Given the description of an element on the screen output the (x, y) to click on. 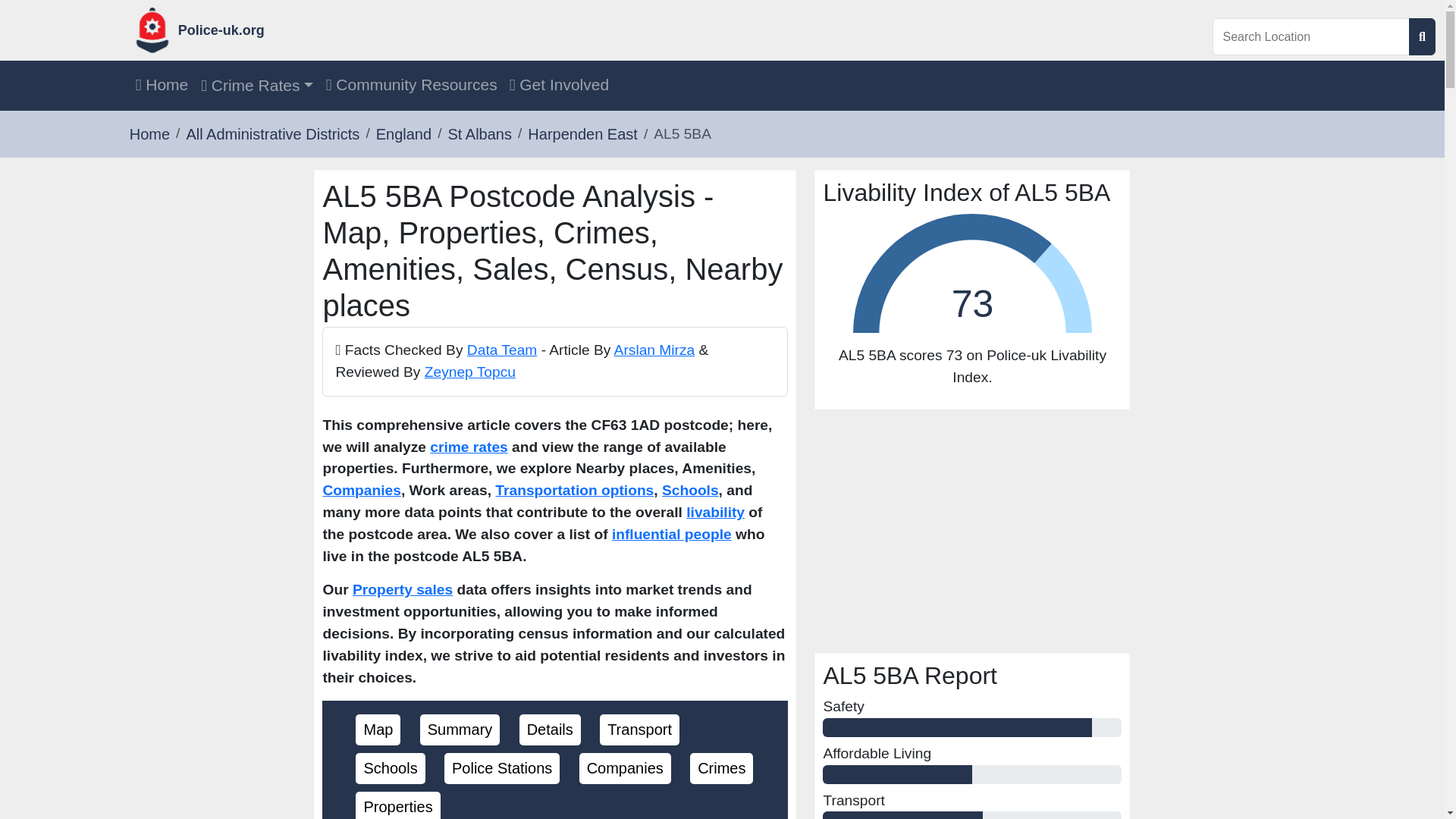
crime rates (467, 446)
Details (550, 729)
Home (162, 84)
Companies (360, 489)
Transportation options (574, 489)
Transport (639, 729)
Data Team (502, 349)
Zeynep Topcu (470, 371)
influential people (671, 534)
Properties (397, 806)
Crimes (721, 768)
Get Involved (558, 84)
Harpenden East (582, 134)
Arslan Mirza (654, 349)
Police-uk.org (360, 30)
